Given the description of an element on the screen output the (x, y) to click on. 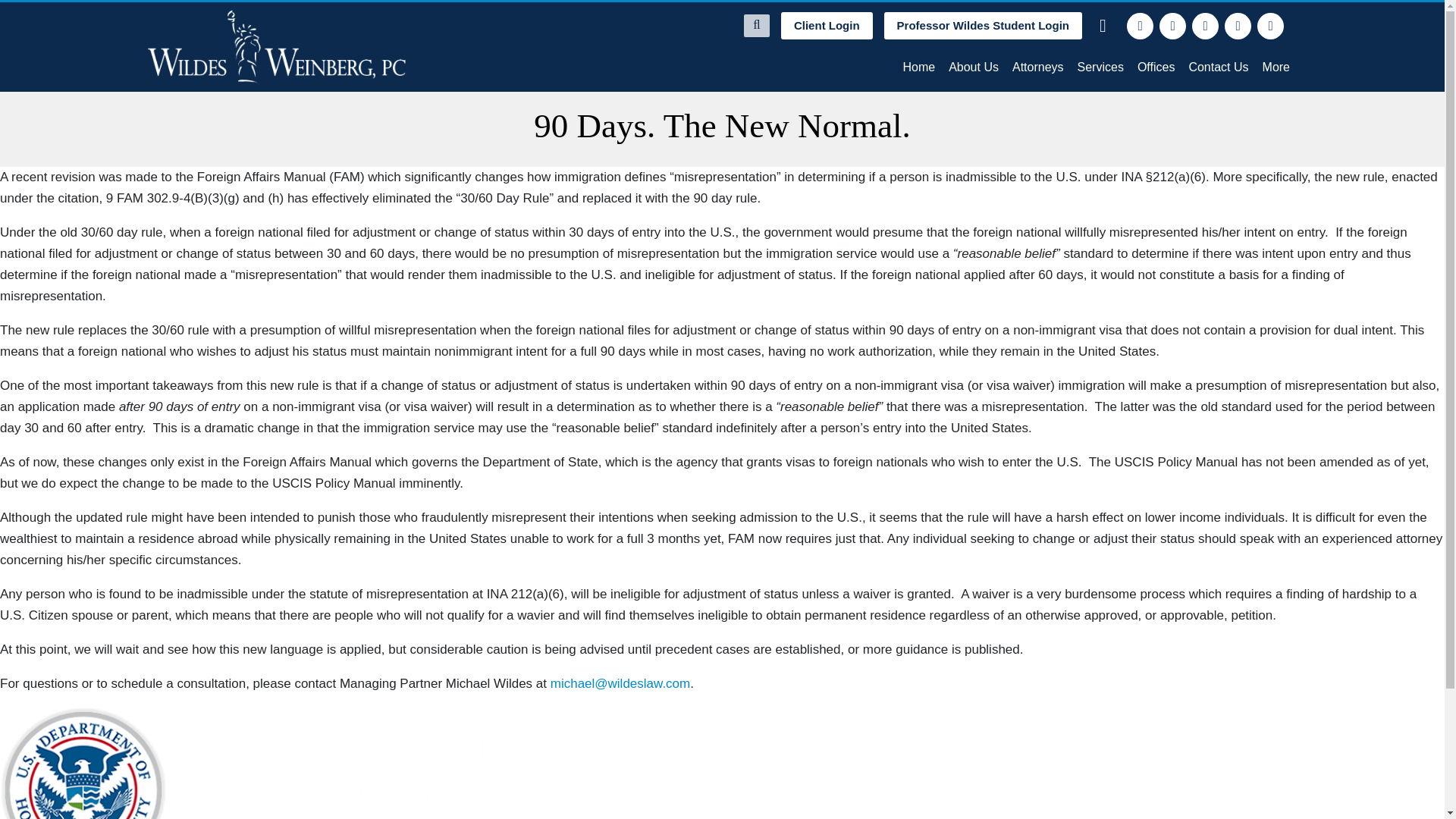
facebook (1139, 26)
youtube (1270, 26)
linkedin (1205, 26)
twitter (1172, 26)
Home (918, 67)
Attorneys (1038, 67)
Client Login (826, 25)
About Us (974, 67)
Professor Wildes Student Login (982, 25)
instagram (1237, 26)
Services (1100, 67)
